Given the description of an element on the screen output the (x, y) to click on. 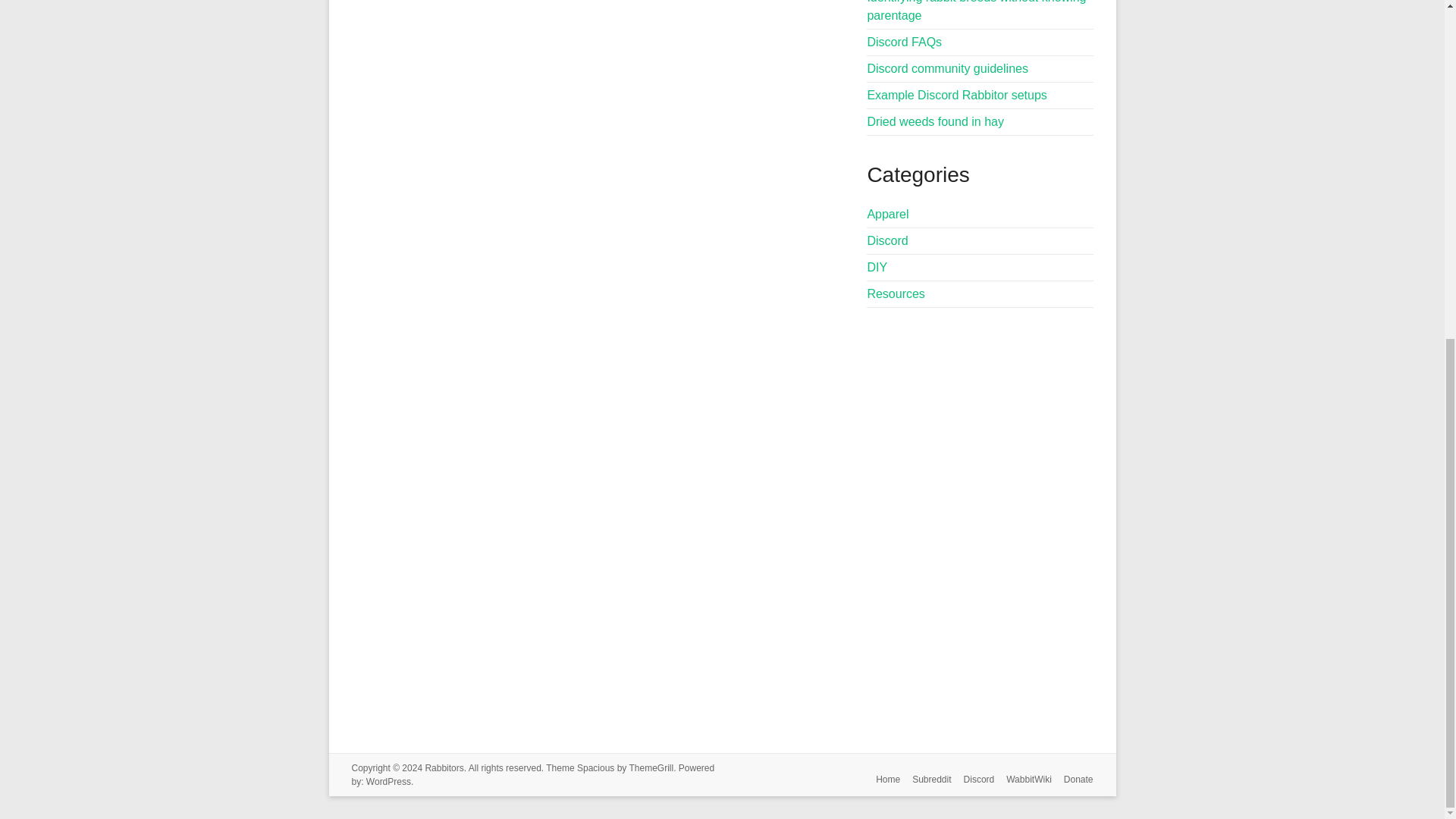
Rabbitors (444, 767)
Discord FAQs (904, 42)
WordPress (388, 781)
WordPress (388, 781)
Apparel (887, 214)
Rabbitors (444, 767)
Home (881, 780)
Spacious (595, 767)
Discord (886, 240)
Dried weeds found in hay (935, 121)
Resources (895, 293)
Identifying rabbit breeds without knowing parentage (976, 11)
Spacious (595, 767)
Example Discord Rabbitor setups (956, 94)
Discord community guidelines (946, 68)
